Given the description of an element on the screen output the (x, y) to click on. 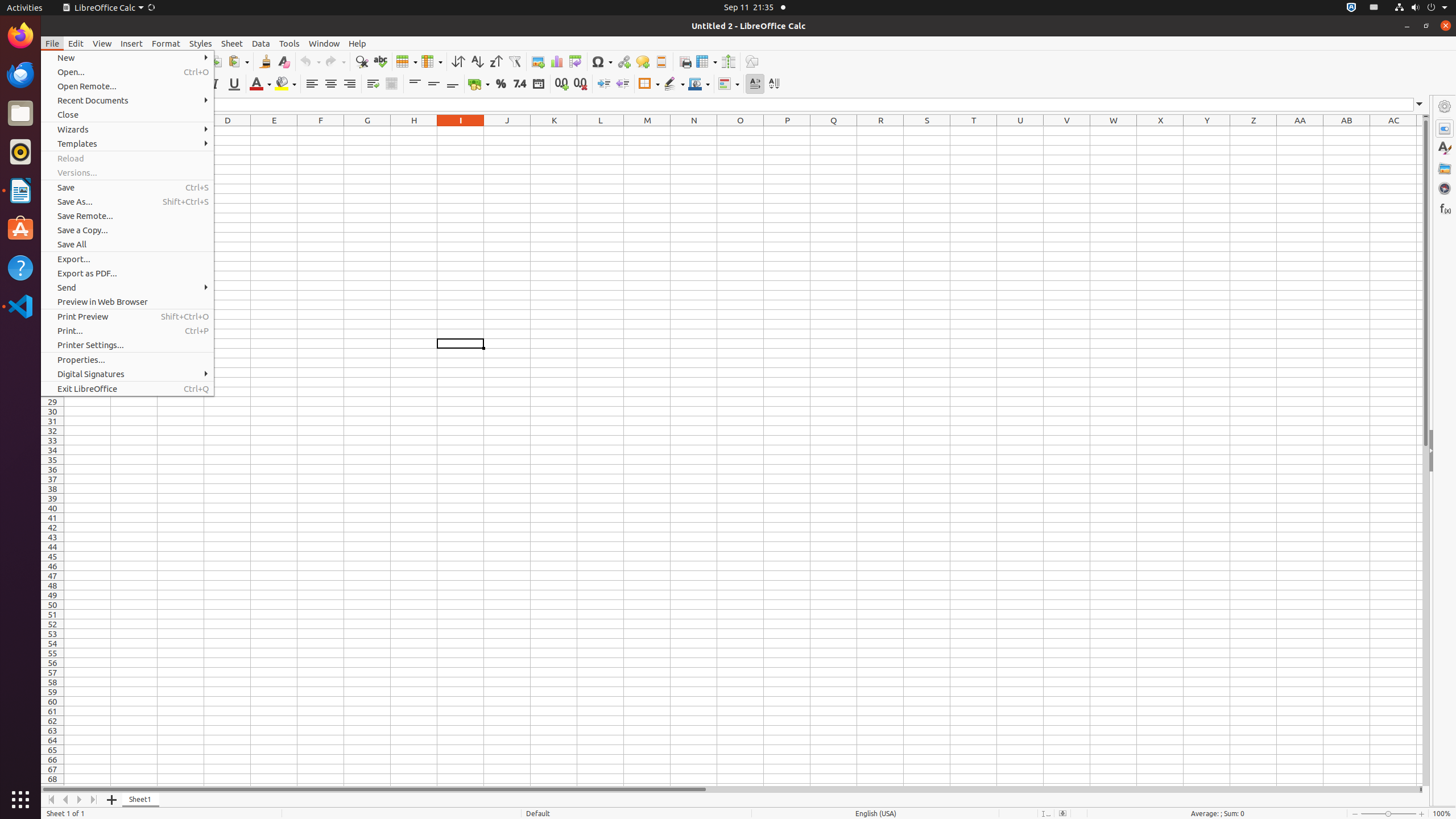
Data Element type: menu (260, 43)
Decrease Element type: push-button (622, 83)
Z1 Element type: table-cell (1253, 130)
Save As... Element type: menu-item (126, 201)
Split Window Element type: push-button (727, 61)
